Given the description of an element on the screen output the (x, y) to click on. 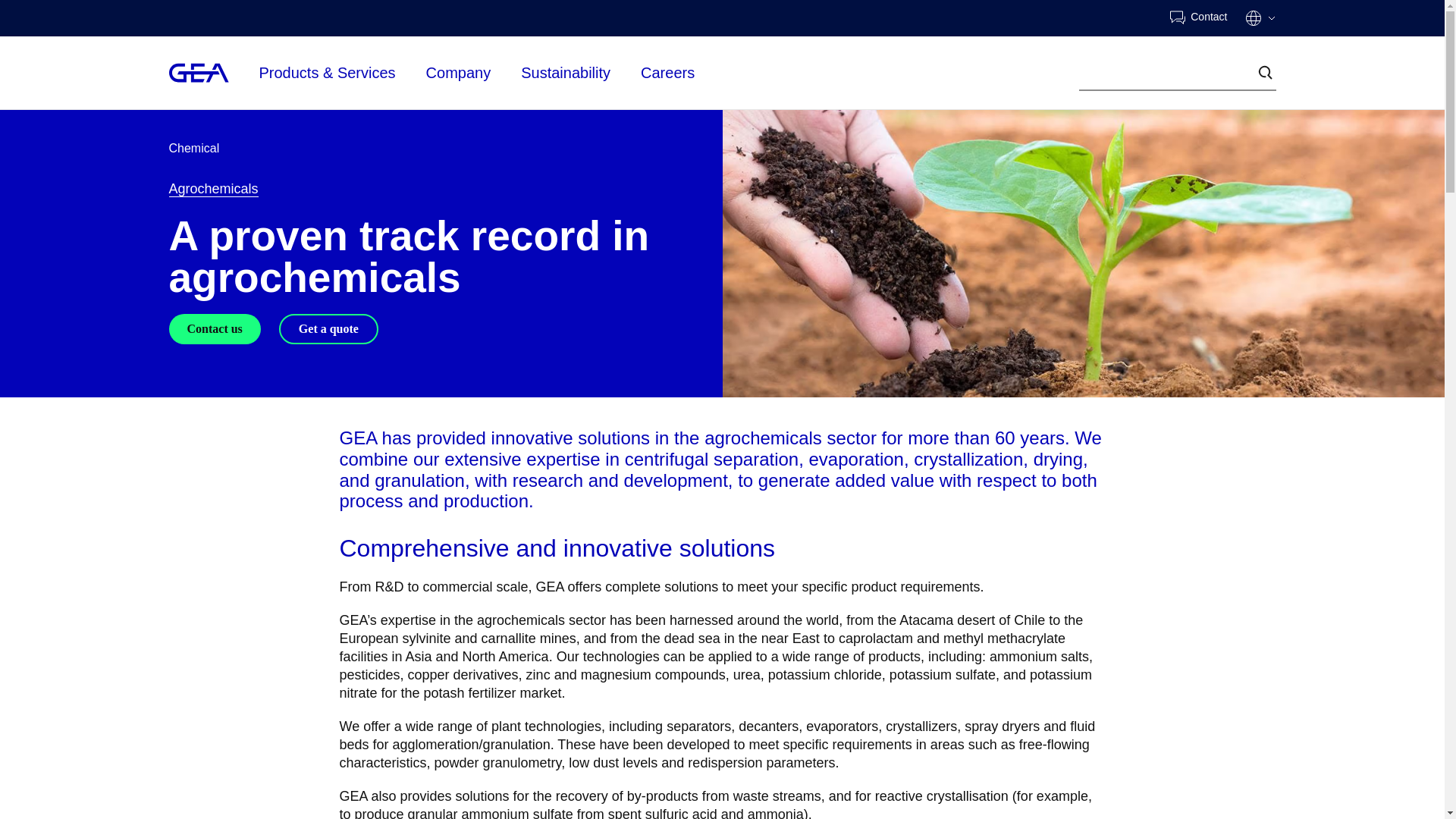
Sustainability (565, 71)
Careers (667, 72)
Company (459, 71)
Company (459, 72)
Contact (1198, 17)
Careers (667, 71)
Sustainability (565, 72)
Contact GEA (1198, 17)
